Given the description of an element on the screen output the (x, y) to click on. 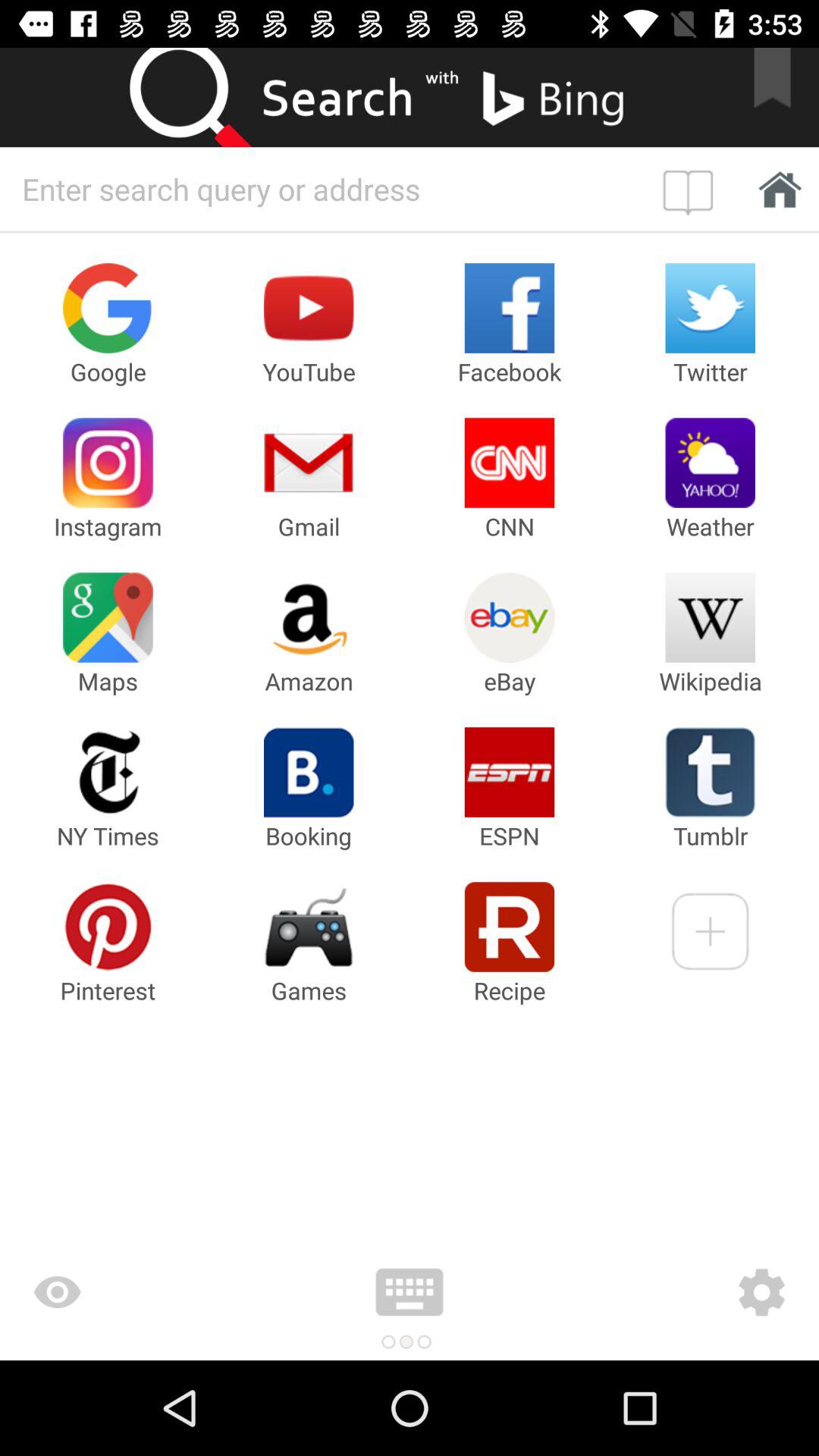
select icon at the bottom right corner (671, 1292)
